Given the description of an element on the screen output the (x, y) to click on. 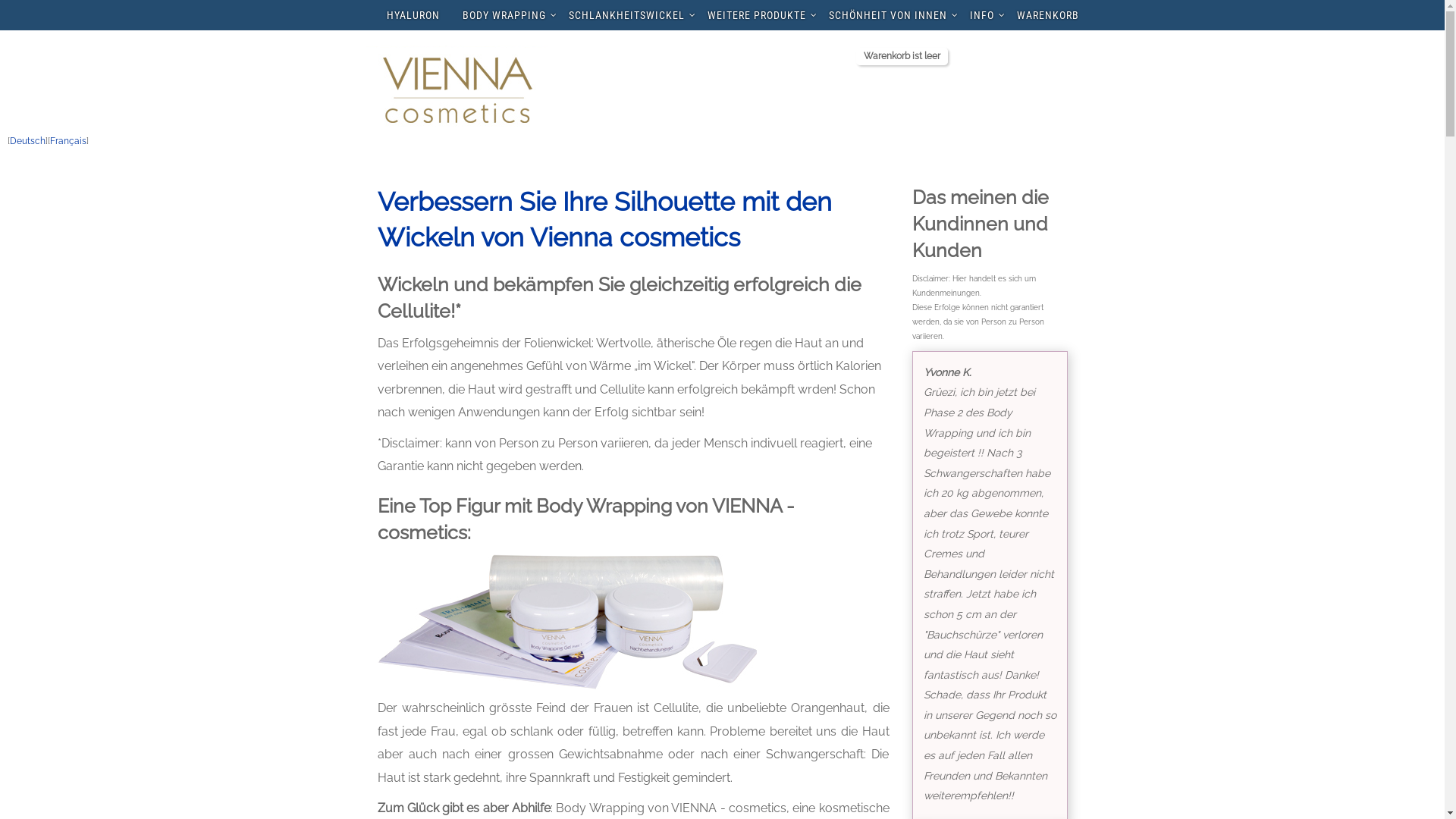
HYALURON Element type: text (412, 15)
SCHLANKHEITSWICKEL Element type: text (625, 15)
INFO Element type: text (981, 15)
WEITERE PRODUKTE Element type: text (756, 15)
BODY WRAPPING Element type: text (503, 15)
Deutsch Element type: text (27, 140)
WARENKORB Element type: text (1047, 15)
